Given the description of an element on the screen output the (x, y) to click on. 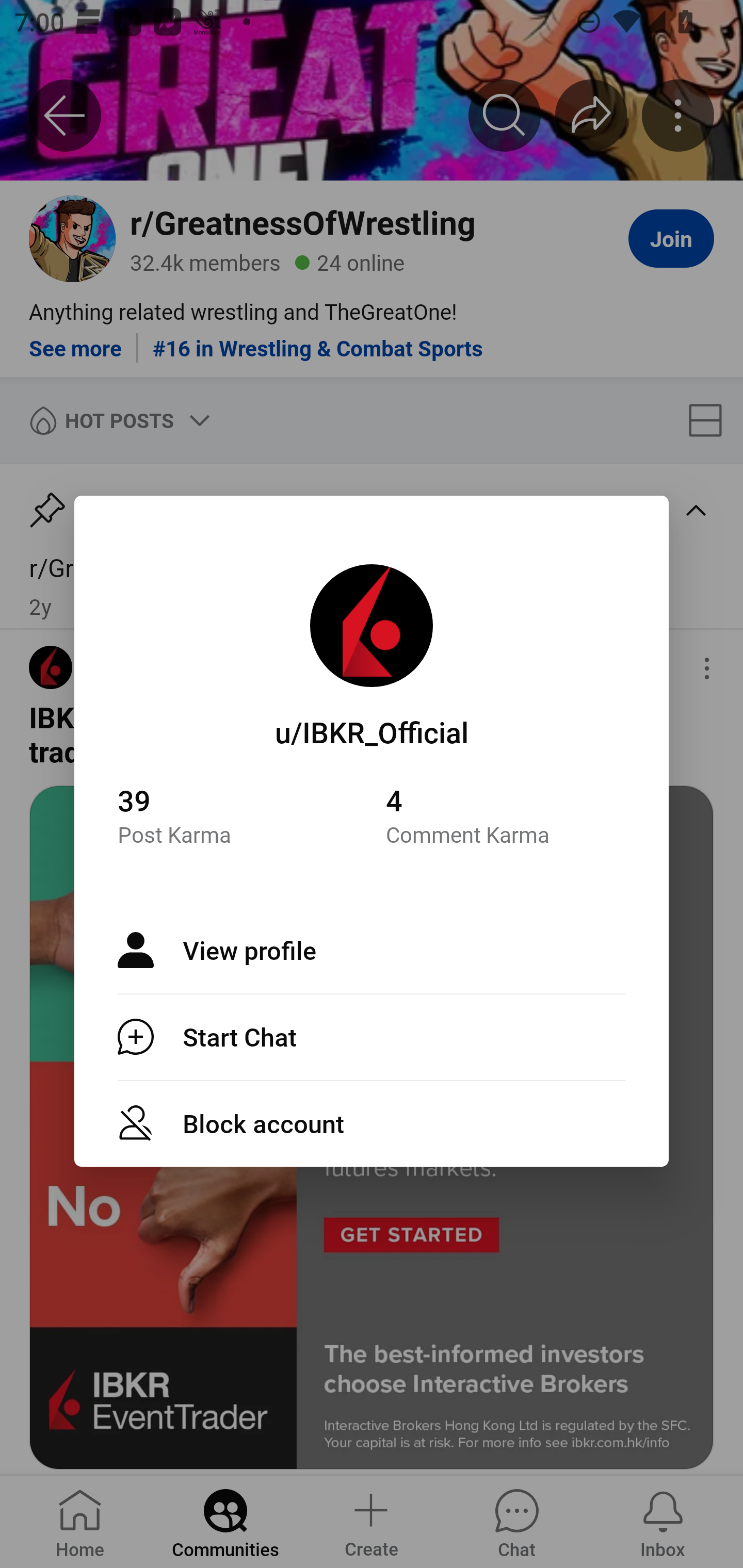
u/IBKR_Official (371, 731)
View profile (371, 950)
Start Chat (371, 1037)
Block account (371, 1123)
